Given the description of an element on the screen output the (x, y) to click on. 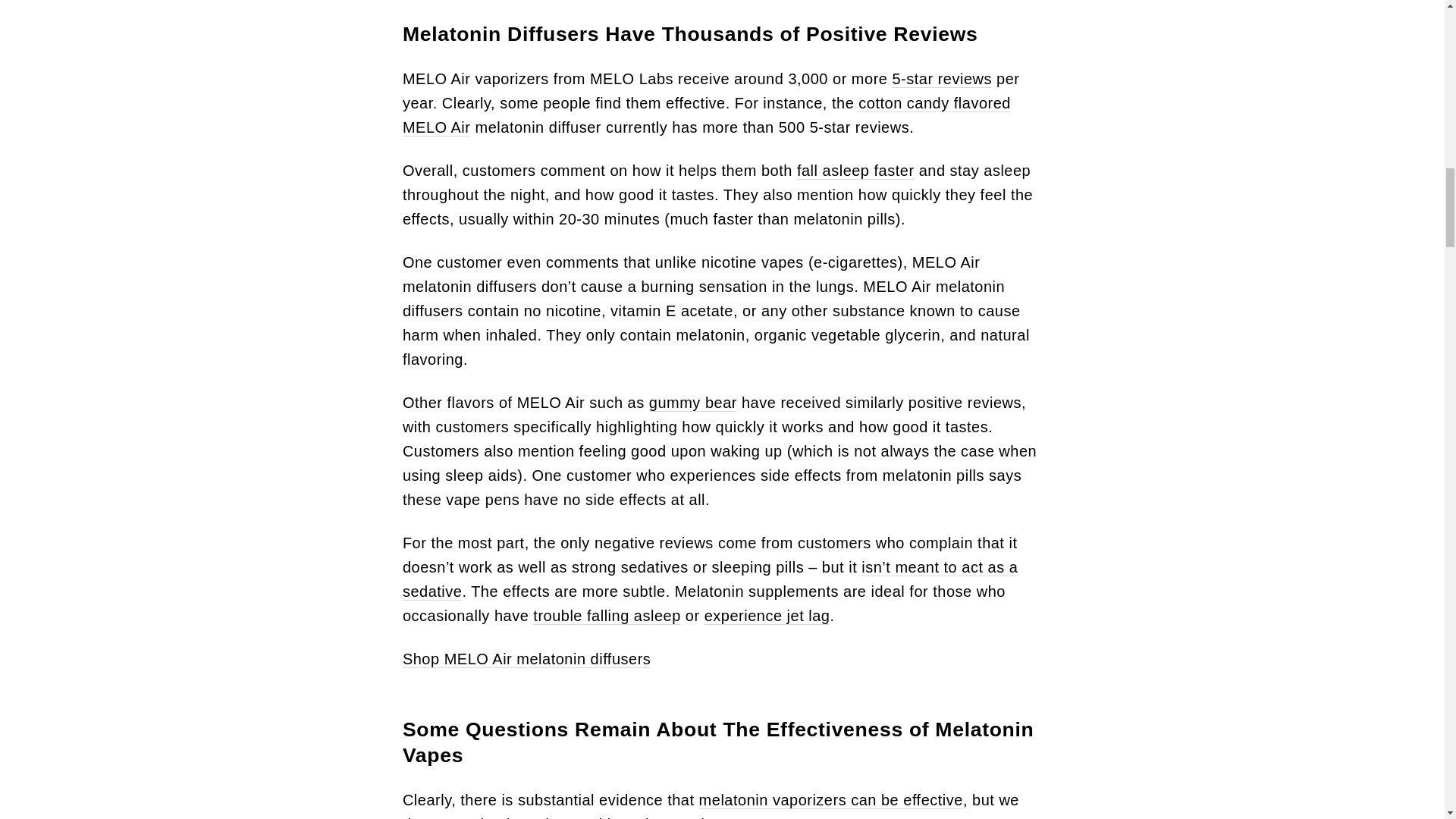
MELO Air Melatonin Diffuser - Gummy Bear (692, 402)
Shop MELO Air melatonin diffusers (526, 659)
Melatonin Diffuser Reviews for MELO Air (855, 170)
Melatonin Diffuser Reviews: What Customers Have to Say (941, 78)
MELO Air Melatonin Diffuser - Cotton Candy (706, 115)
Can You Vape Melatonin: What You Need to Know (830, 800)
How to Take Melatonin for Jet Lag: All You Need to Know (766, 615)
Pros and Cons of Melatonin: What You Need to Know (605, 615)
